Given the description of an element on the screen output the (x, y) to click on. 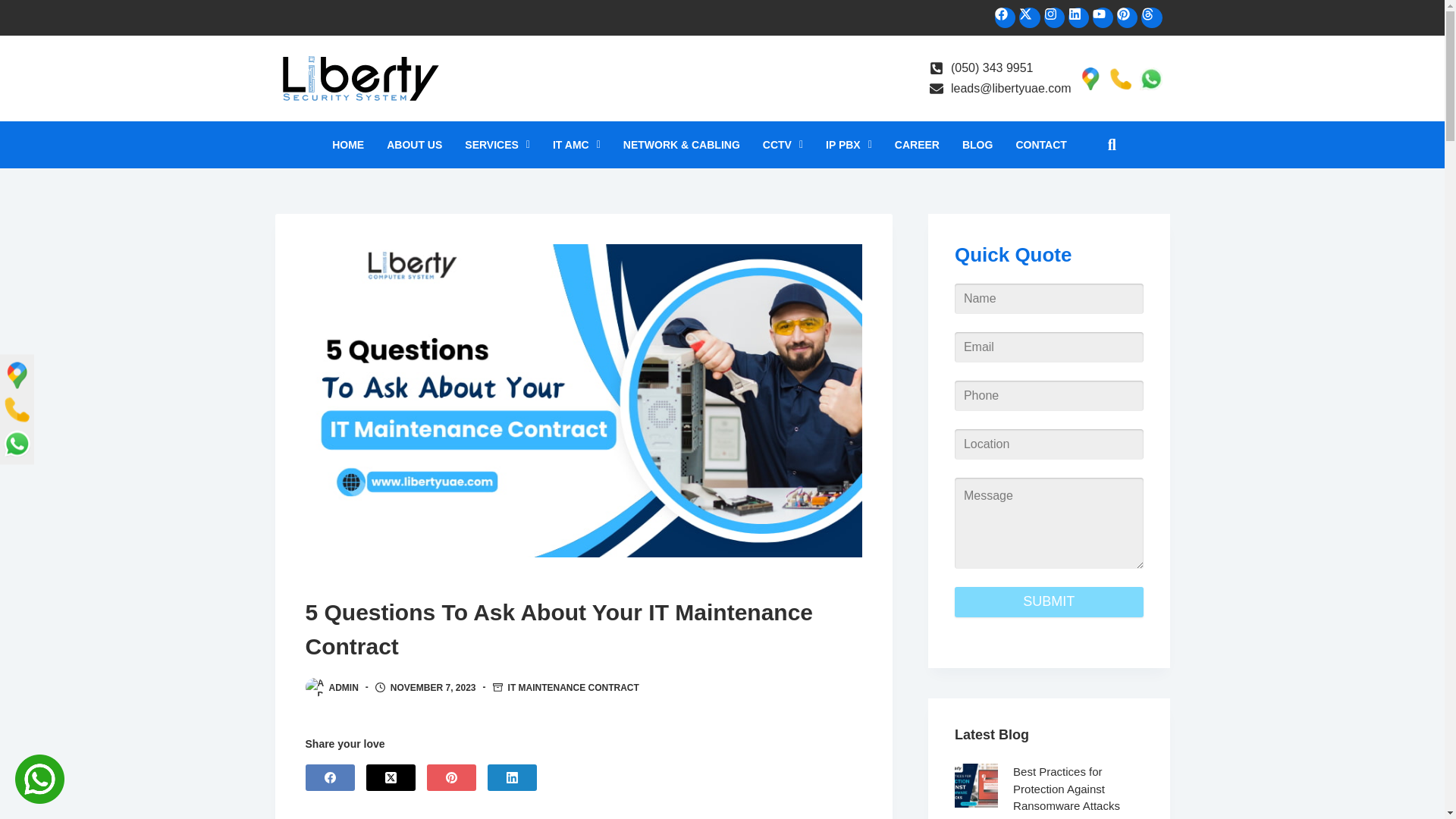
call (1119, 78)
map-marker (1089, 78)
Search (1105, 144)
5 Questions To Ask About Your IT Maintenance Contract (582, 629)
Submit (1048, 602)
ABOUT US (413, 144)
CCTV (782, 144)
SERVICES (496, 144)
HOME (347, 144)
Skip to content (15, 7)
Posts by admin (343, 687)
whatsapp (1149, 78)
IT AMC (576, 144)
